Given the description of an element on the screen output the (x, y) to click on. 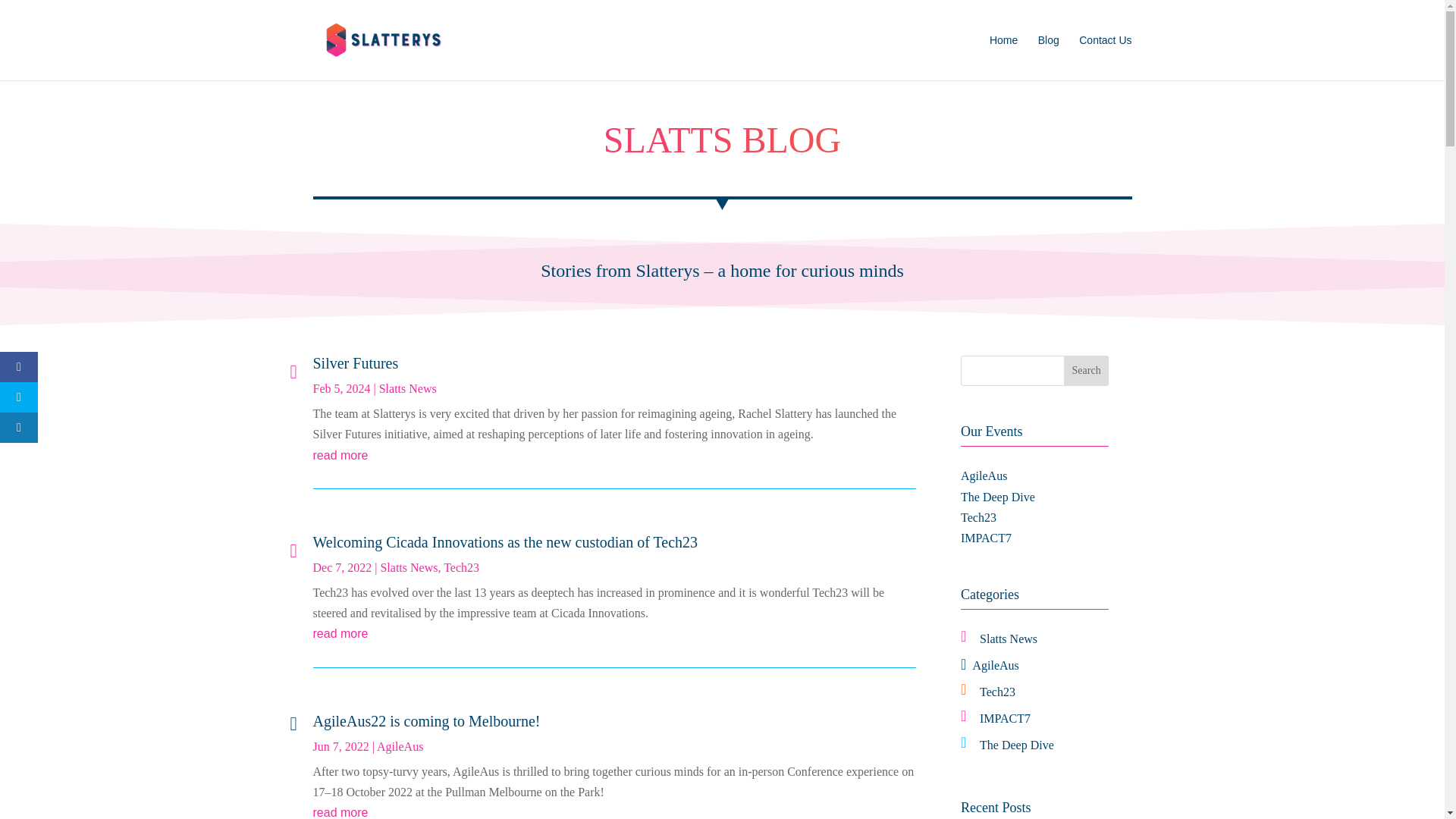
Search (1086, 370)
Silver Futures (355, 362)
read more (614, 633)
read more (614, 455)
Welcoming Cicada Innovations as the new custodian of Tech23 (505, 541)
Tech23 (461, 567)
Slatts News (409, 567)
Slatts News (407, 388)
AgileAus (400, 746)
Contact Us (1104, 57)
read more (614, 810)
AgileAus22 is coming to Melbourne! (426, 720)
